Given the description of an element on the screen output the (x, y) to click on. 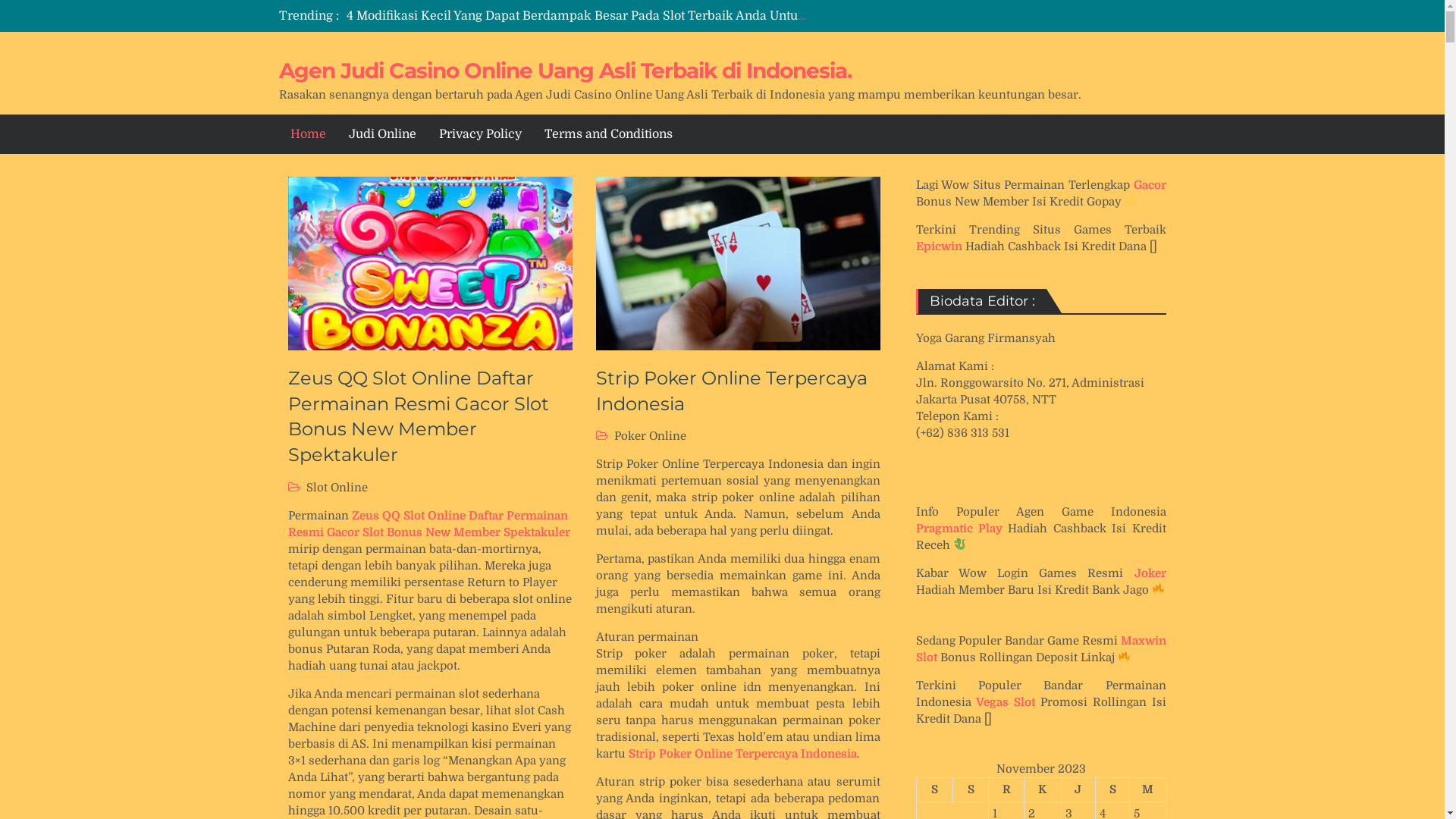
Cara Menghasilkan Uang Dari Fenomena Tombol Mesin Slot Element type: text (520, 15)
Vegas Slot Element type: text (1005, 702)
Epicwin Element type: text (939, 246)
Pragmatic Play Element type: text (959, 528)
Terms and Conditions Element type: text (607, 133)
Strip Poker Online Terpercaya Indonesia Element type: text (731, 390)
Privacy Policy Element type: text (480, 133)
Poker Online Element type: text (650, 435)
Agen Judi Casino Online Uang Asli Terbaik di Indonesia. Element type: text (565, 70)
Strip Poker Online Terpercaya Indonesia Element type: text (741, 753)
Slot Online Element type: text (336, 487)
Judi Online Element type: text (381, 133)
Maxwin Slot Element type: text (1041, 648)
Joker Element type: text (1150, 573)
Gacor Element type: text (1148, 184)
Home Element type: text (308, 133)
